Given the description of an element on the screen output the (x, y) to click on. 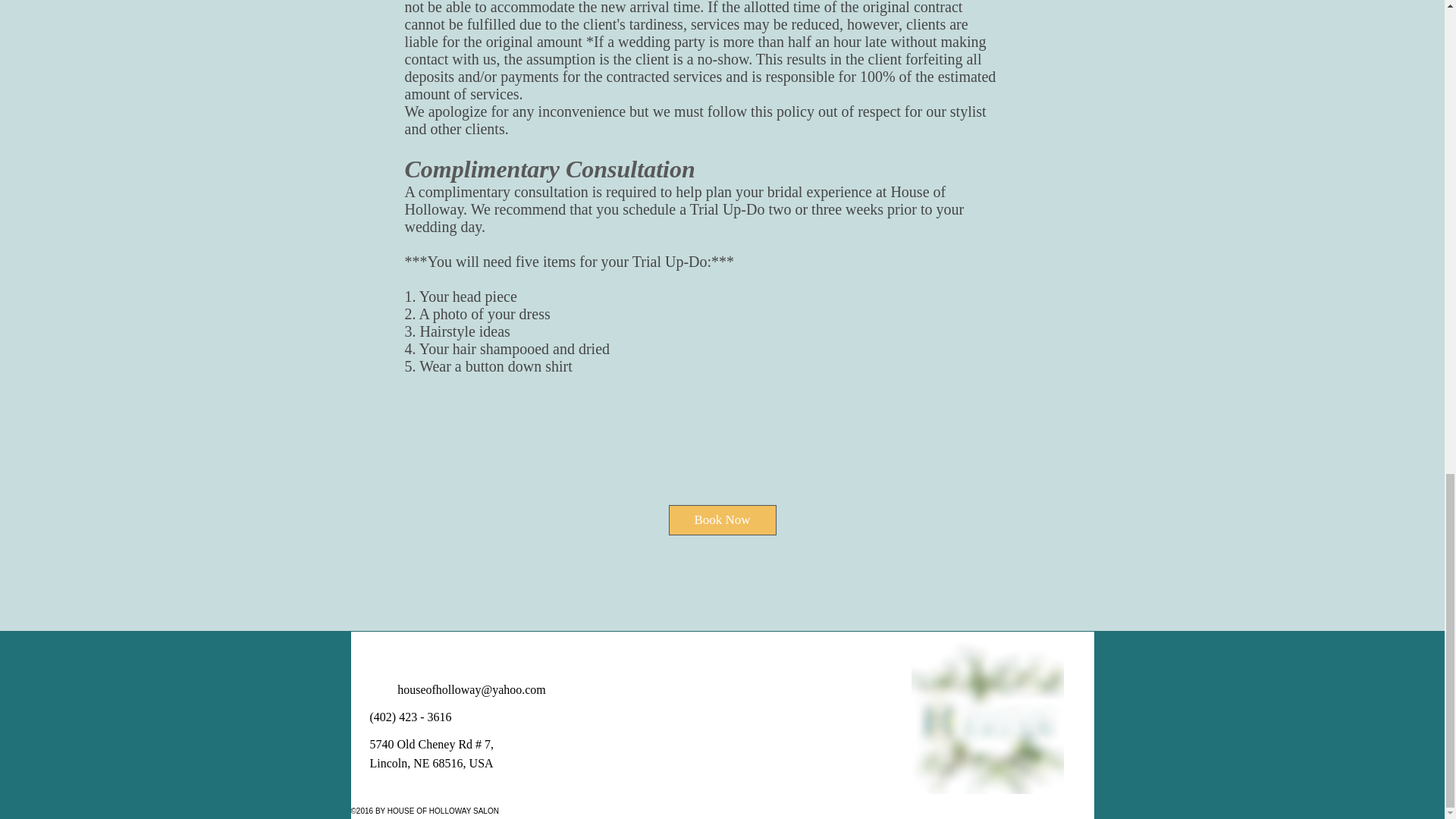
Book Now (722, 520)
